Given the description of an element on the screen output the (x, y) to click on. 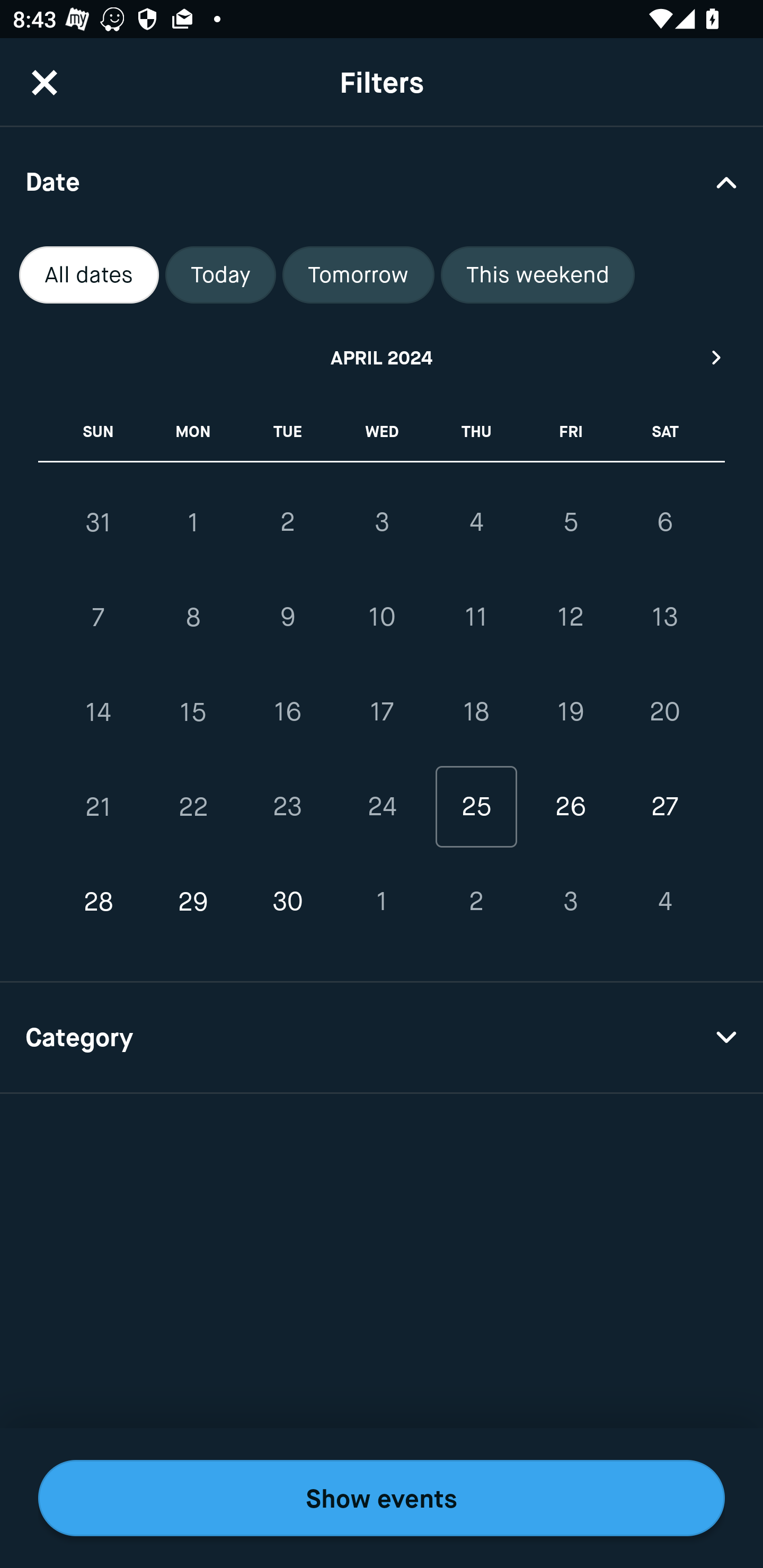
CloseButton (44, 82)
Date Drop Down Arrow (381, 181)
All dates (88, 274)
Today (220, 274)
Tomorrow (358, 274)
This weekend (537, 274)
Next (717, 357)
31 (98, 522)
1 (192, 522)
2 (287, 522)
3 (381, 522)
4 (475, 522)
5 (570, 522)
6 (664, 522)
7 (98, 617)
8 (192, 617)
9 (287, 617)
10 (381, 617)
11 (475, 617)
12 (570, 617)
13 (664, 617)
14 (98, 711)
15 (192, 711)
16 (287, 711)
17 (381, 711)
18 (475, 711)
19 (570, 711)
20 (664, 711)
21 (98, 806)
22 (192, 806)
23 (287, 806)
24 (381, 806)
25 (475, 806)
26 (570, 806)
27 (664, 806)
28 (98, 901)
29 (192, 901)
30 (287, 901)
1 (381, 901)
2 (475, 901)
3 (570, 901)
4 (664, 901)
Category Drop Down Arrow (381, 1038)
Show events (381, 1497)
